Given the description of an element on the screen output the (x, y) to click on. 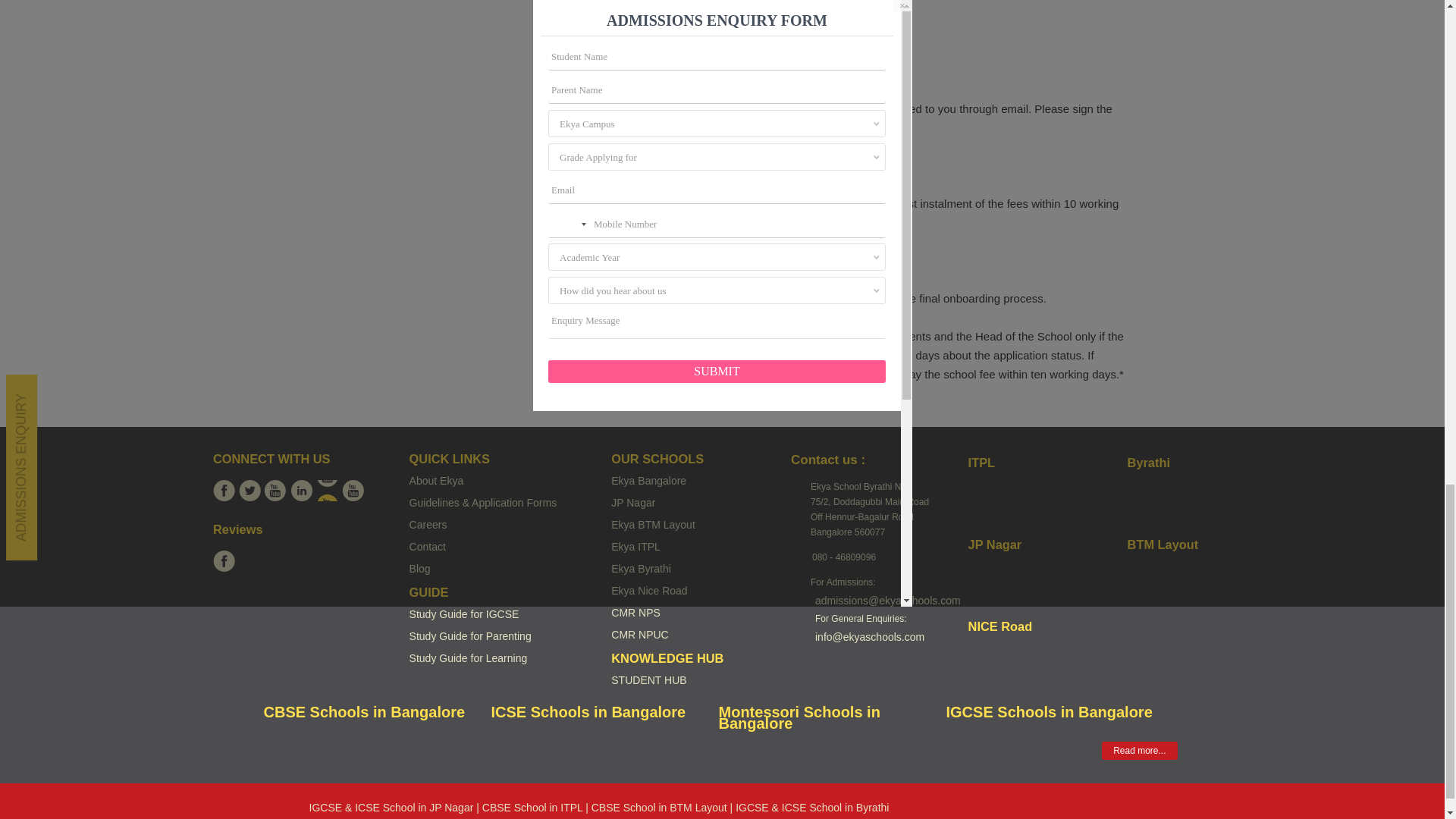
YouTube (275, 490)
Ekya Bangalore (648, 480)
Twitter (249, 490)
CMR NPUC (639, 634)
Blog (419, 568)
About Ekya (436, 480)
Ekya ITPL (636, 546)
Careers (427, 524)
Ekya Byrathi (641, 568)
Ekya BTM Layout (653, 524)
Ekya Nice Road (649, 590)
CMR NPS (636, 612)
080 - 46809096 (843, 557)
Contact (427, 546)
STUDENT HUB (648, 680)
